Given the description of an element on the screen output the (x, y) to click on. 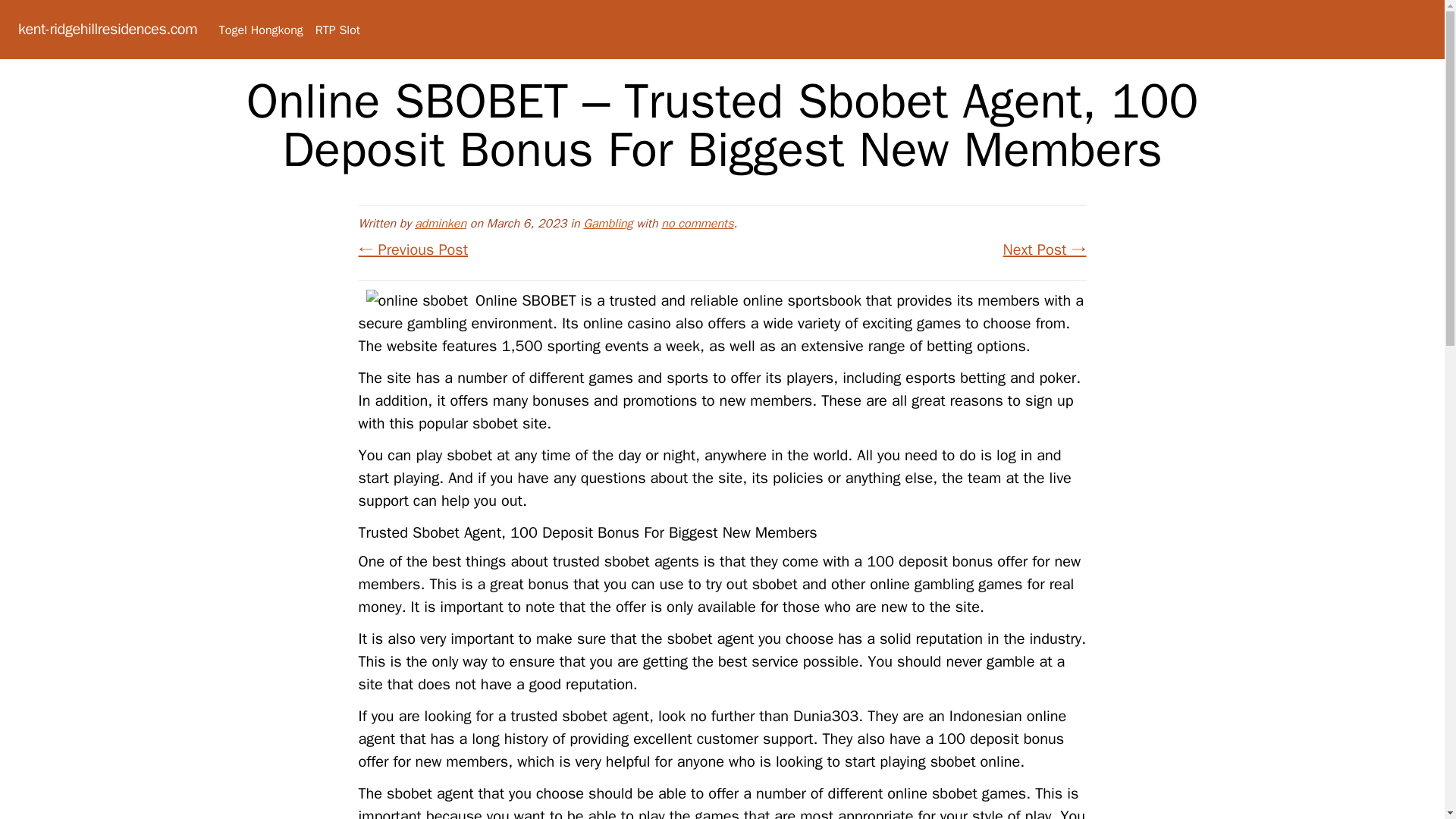
Gambling (607, 223)
no comments (697, 223)
no comments (697, 223)
Togel Hongkong (260, 30)
adminken (439, 223)
RTP Slot (337, 30)
kent-ridgehillresidences.com (106, 29)
